Given the description of an element on the screen output the (x, y) to click on. 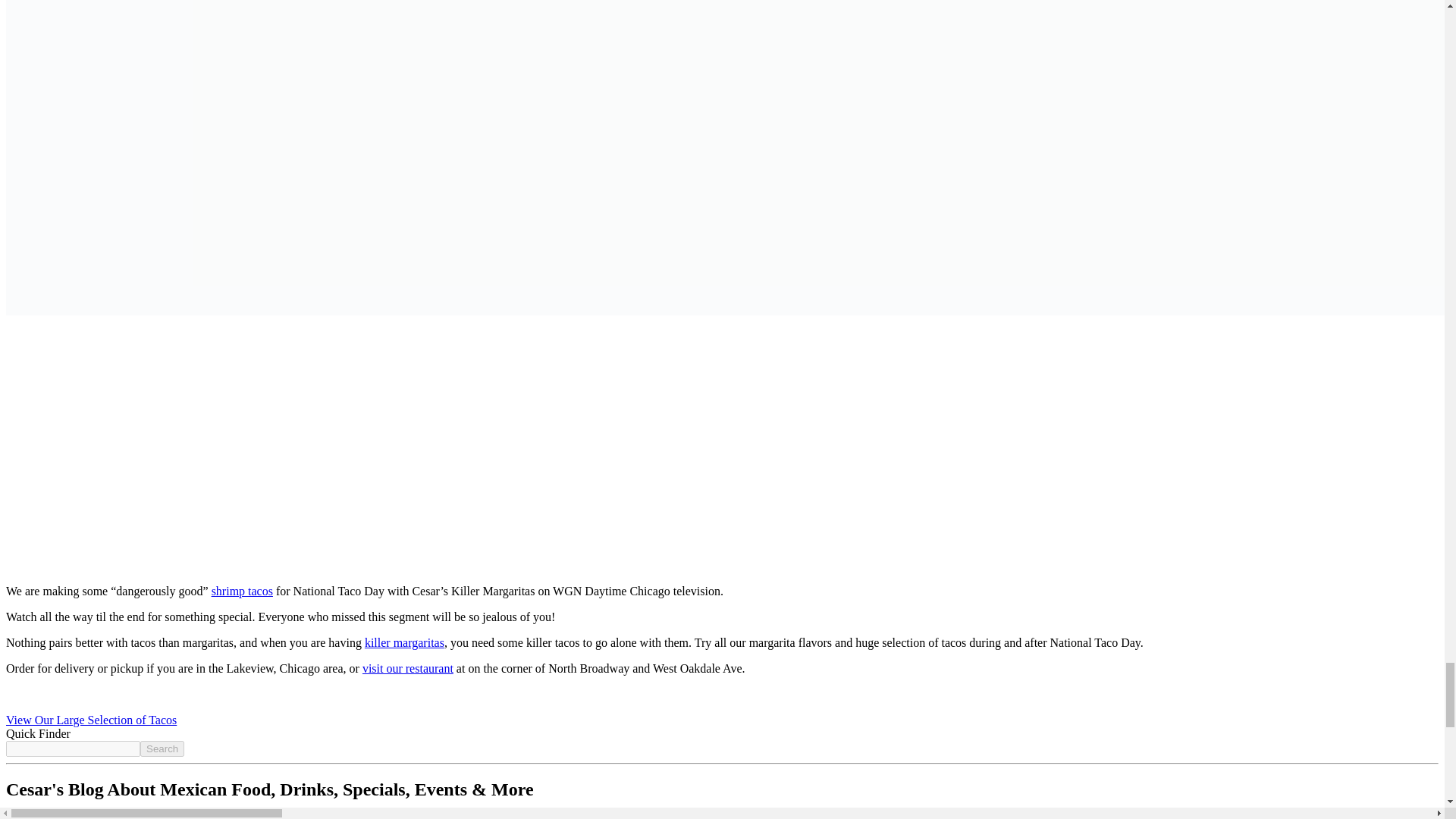
YouTube video player (721, 449)
